Given the description of an element on the screen output the (x, y) to click on. 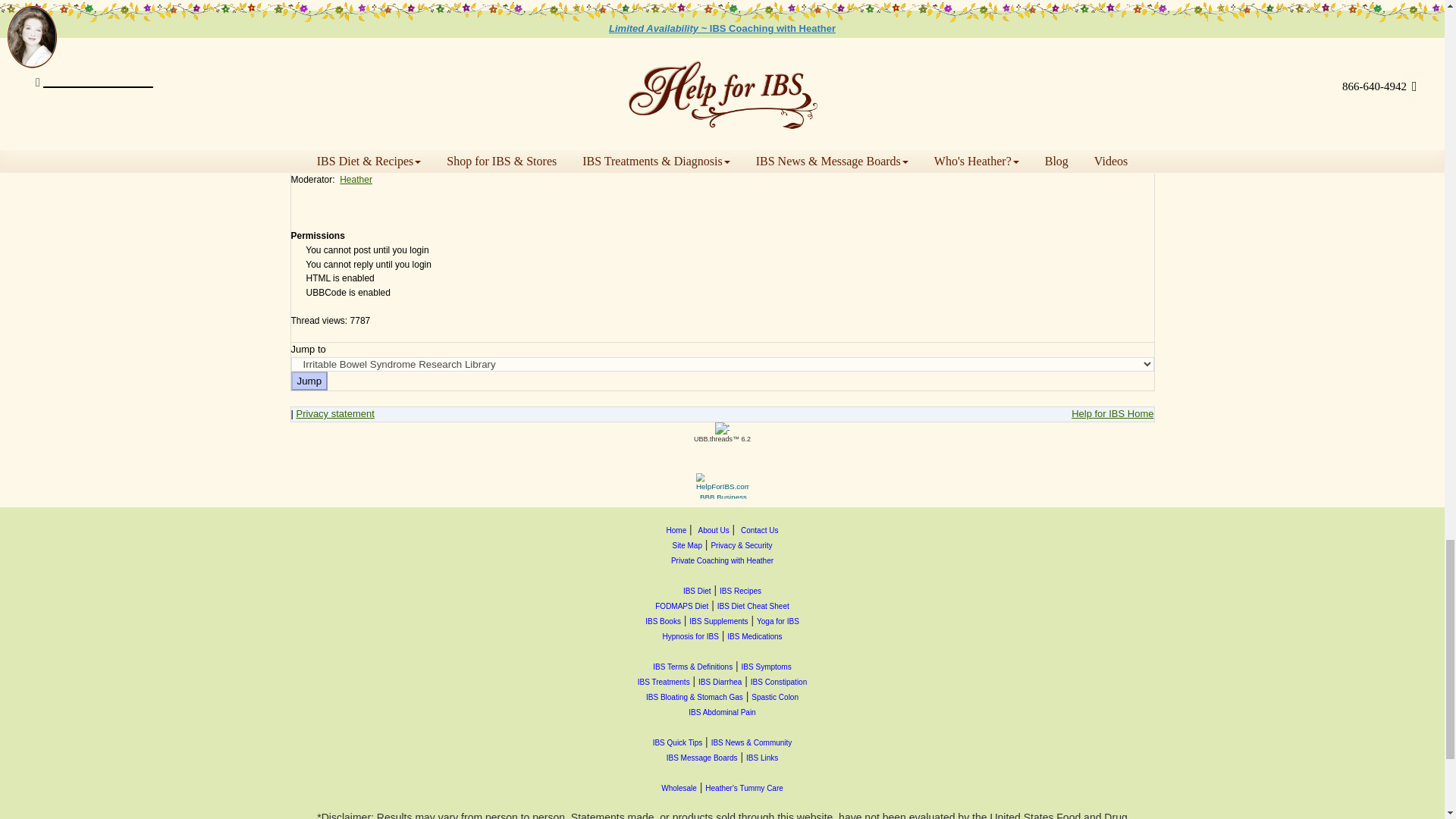
Jump (310, 380)
